Given the description of an element on the screen output the (x, y) to click on. 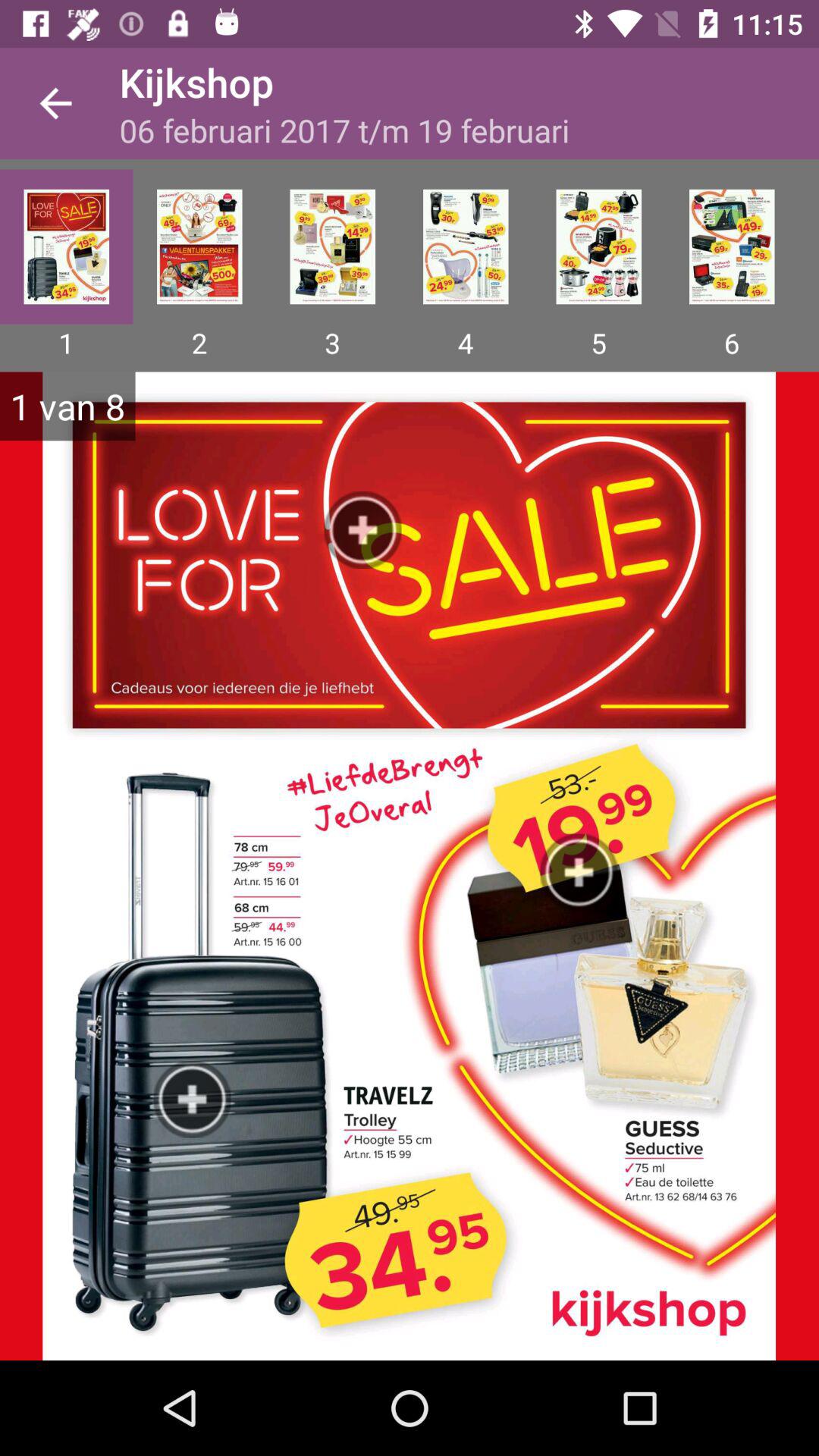
press icon above 6 app (731, 246)
